Given the description of an element on the screen output the (x, y) to click on. 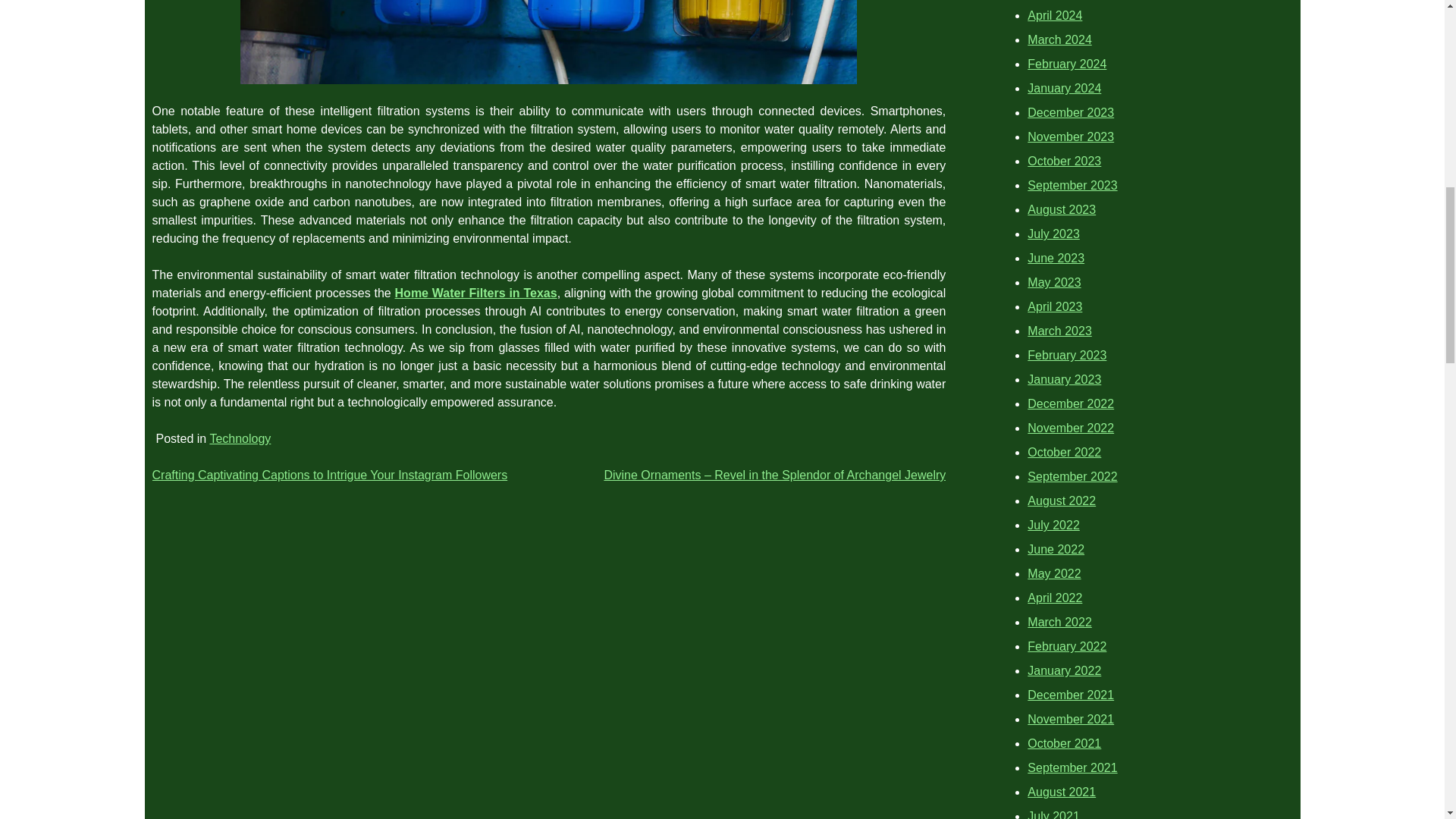
January 2024 (1063, 88)
September 2023 (1071, 185)
November 2022 (1070, 427)
December 2023 (1070, 112)
April 2024 (1054, 15)
February 2023 (1066, 354)
July 2023 (1053, 233)
March 2024 (1059, 39)
October 2022 (1063, 451)
January 2023 (1063, 379)
